Given the description of an element on the screen output the (x, y) to click on. 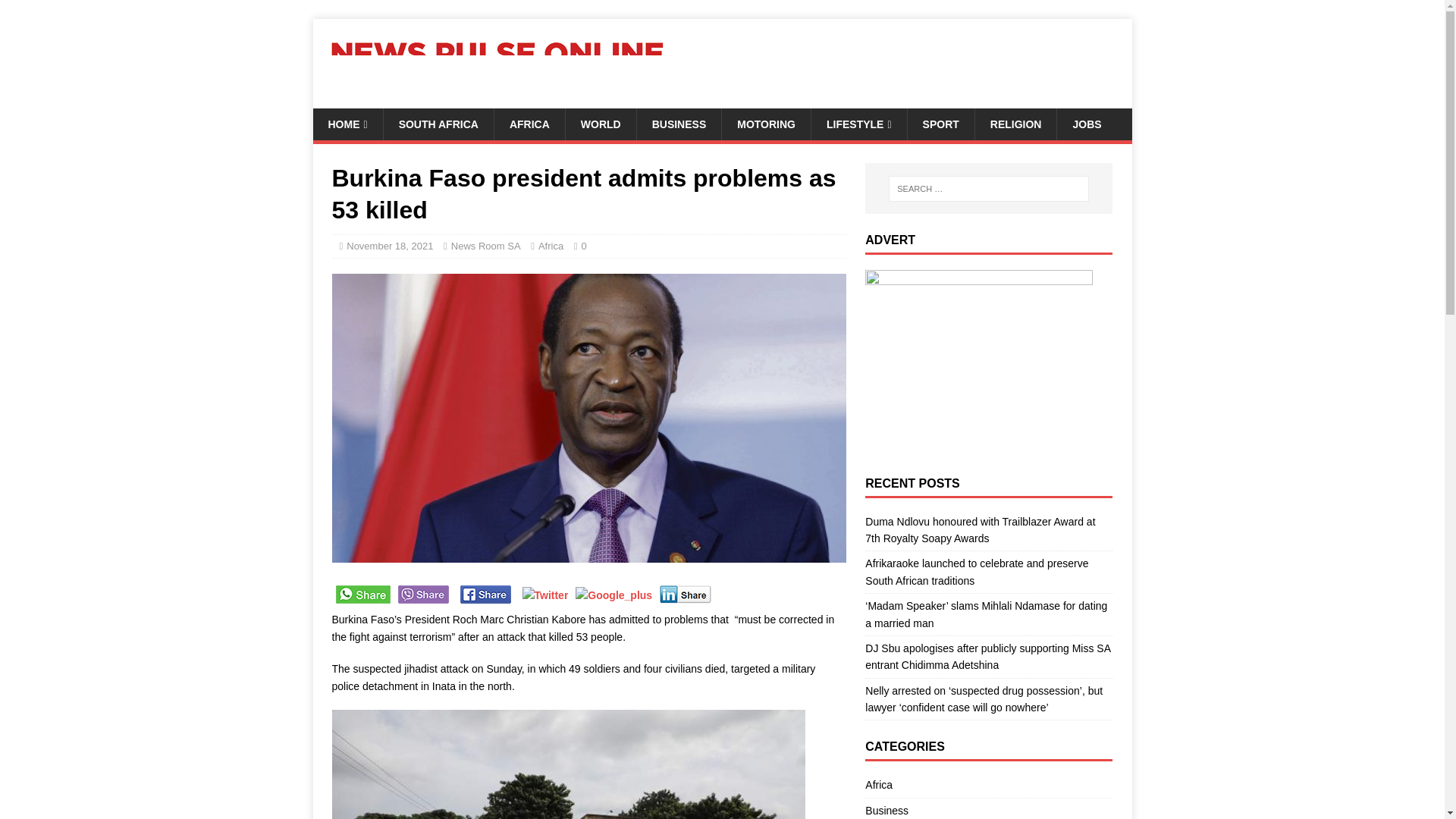
WORLD (600, 124)
November 18, 2021 (389, 245)
JOBS (1086, 124)
Africa (550, 245)
SPORT (940, 124)
LIFESTYLE (858, 124)
News Room SA (486, 245)
SOUTH AFRICA (437, 124)
MOTORING (765, 124)
